Given the description of an element on the screen output the (x, y) to click on. 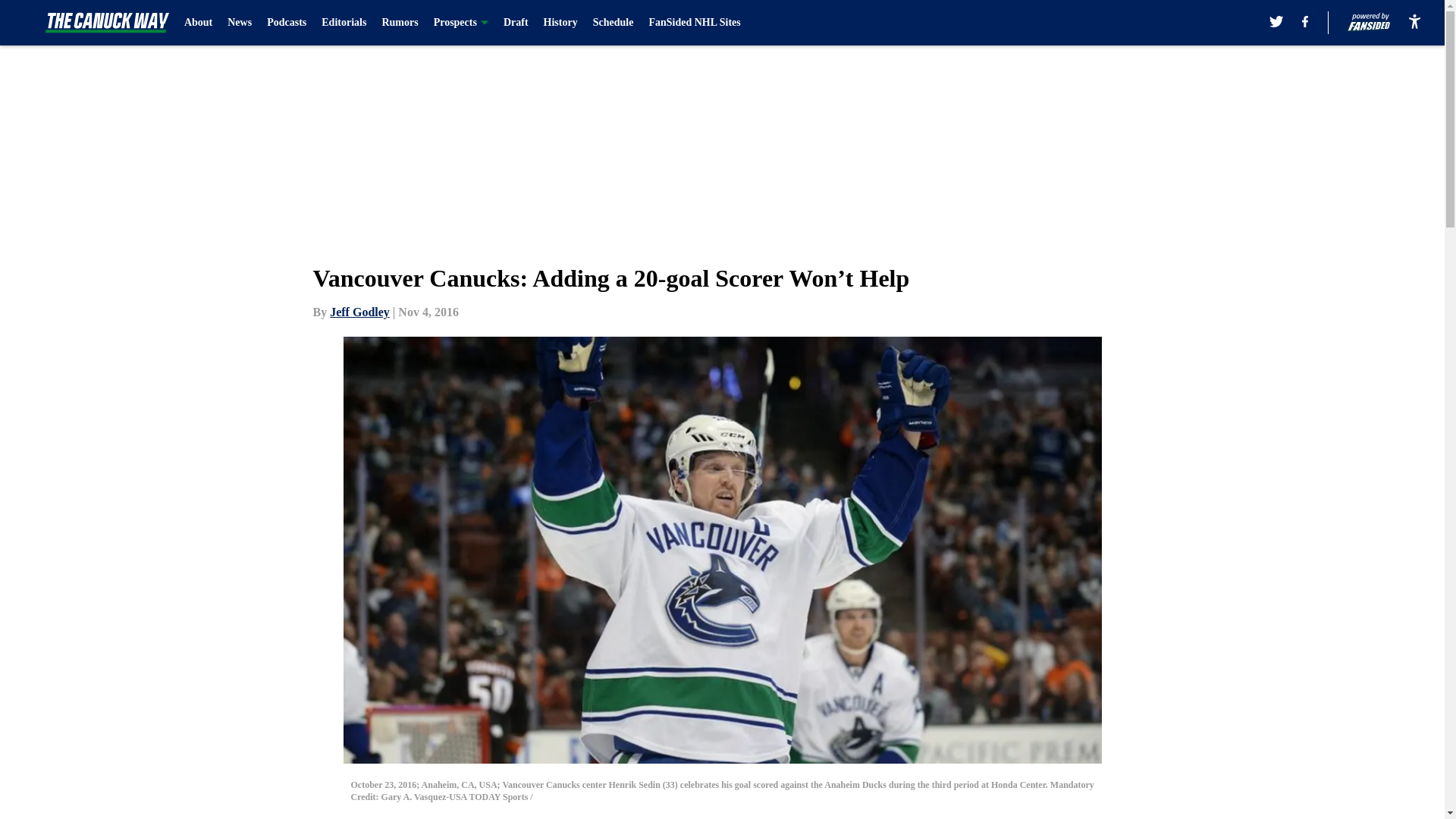
News (239, 22)
Podcasts (285, 22)
Draft (515, 22)
FanSided NHL Sites (693, 22)
Rumors (399, 22)
Jeff Godley (360, 311)
History (560, 22)
Schedule (612, 22)
About (198, 22)
Editorials (343, 22)
